Given the description of an element on the screen output the (x, y) to click on. 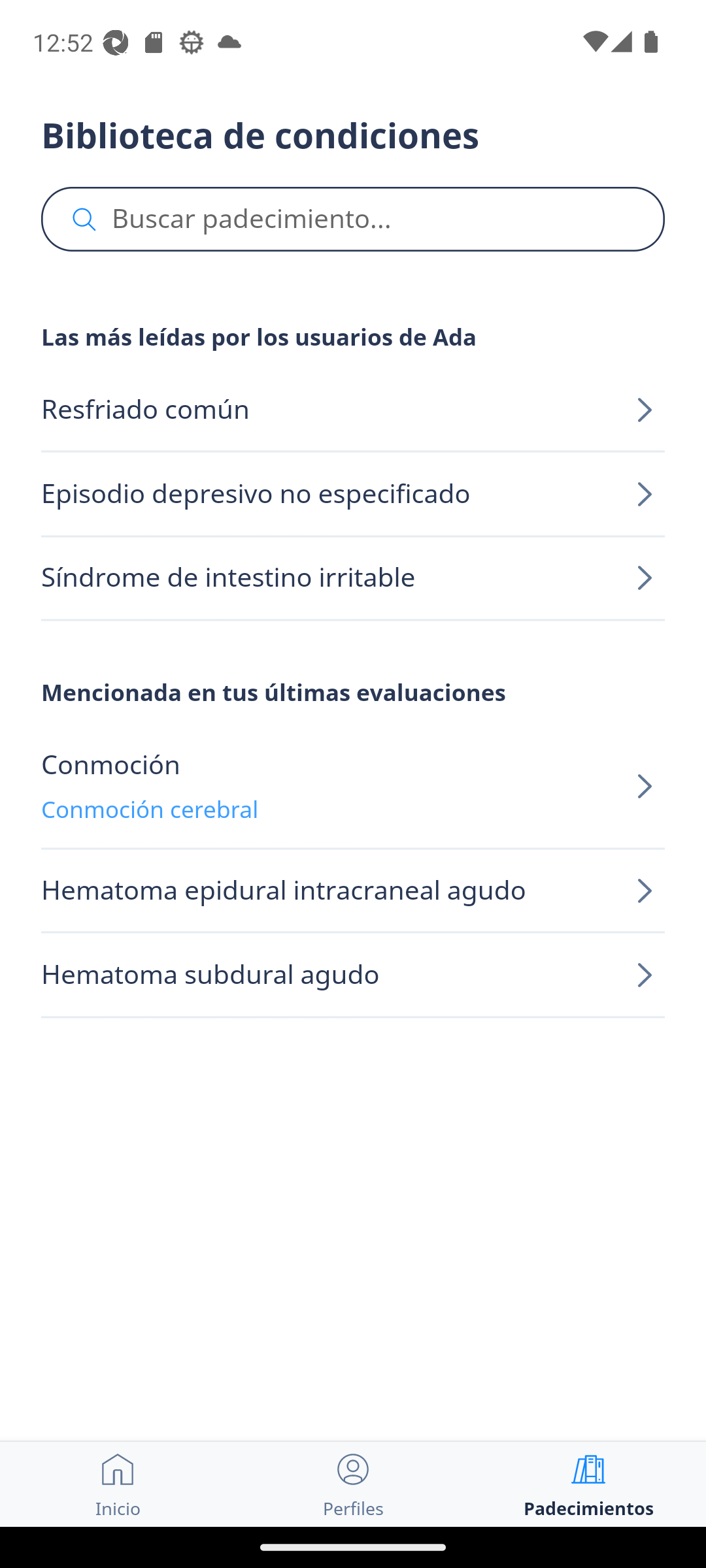
Buscar padecimiento... (352, 219)
Resfriado común (352, 409)
Episodio depresivo no especificado (352, 494)
Síndrome de intestino irritable (352, 578)
Conmoción Conmoción cerebral (352, 786)
Hematoma epidural intracraneal agudo (352, 890)
Hematoma subdural agudo (352, 974)
Inicio (117, 1484)
Perfiles (352, 1484)
Padecimientos (588, 1484)
